Given the description of an element on the screen output the (x, y) to click on. 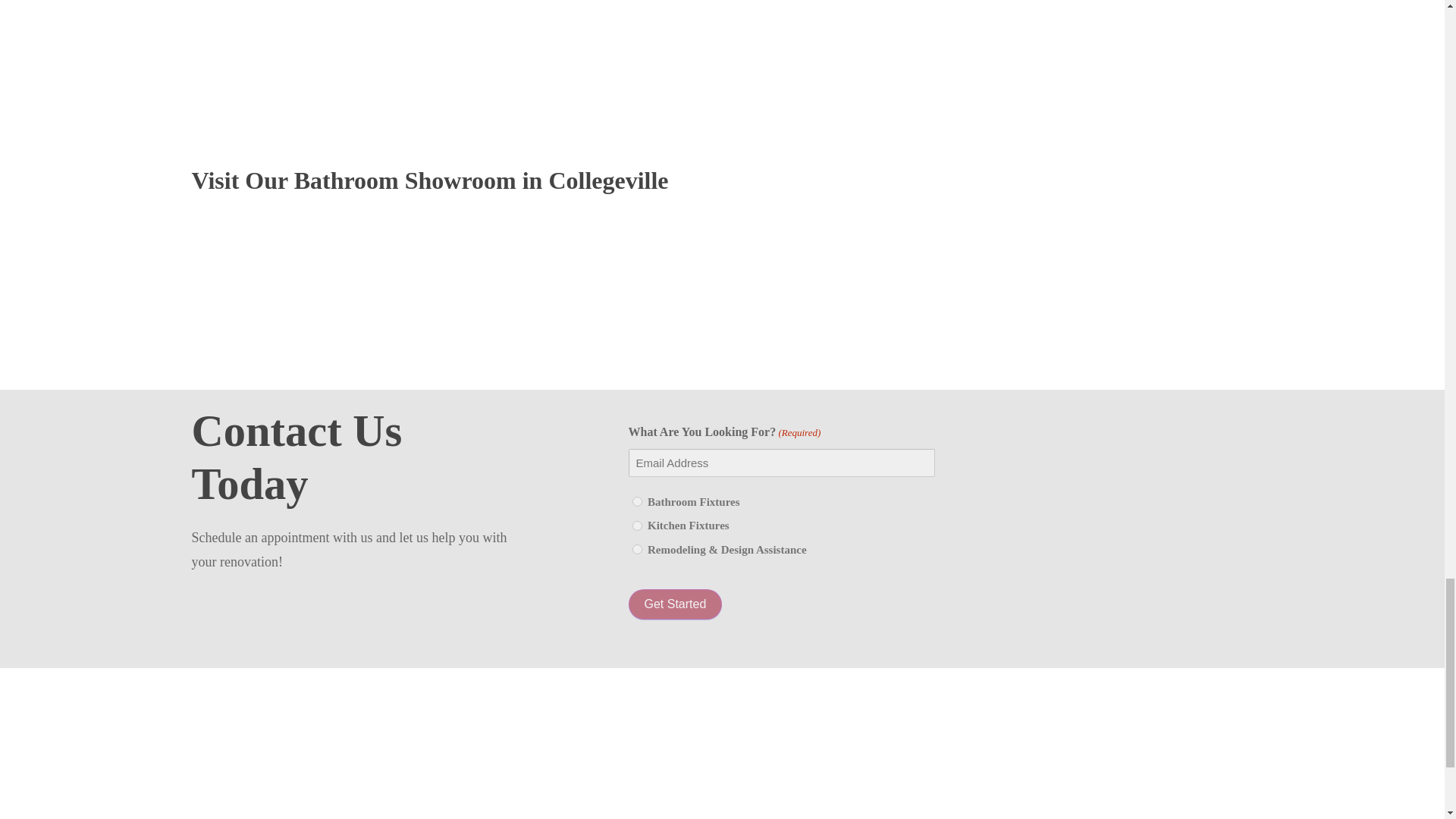
Bathroom Fixtures (636, 501)
Get Started (674, 603)
Kitchen Fixtures (636, 525)
